Given the description of an element on the screen output the (x, y) to click on. 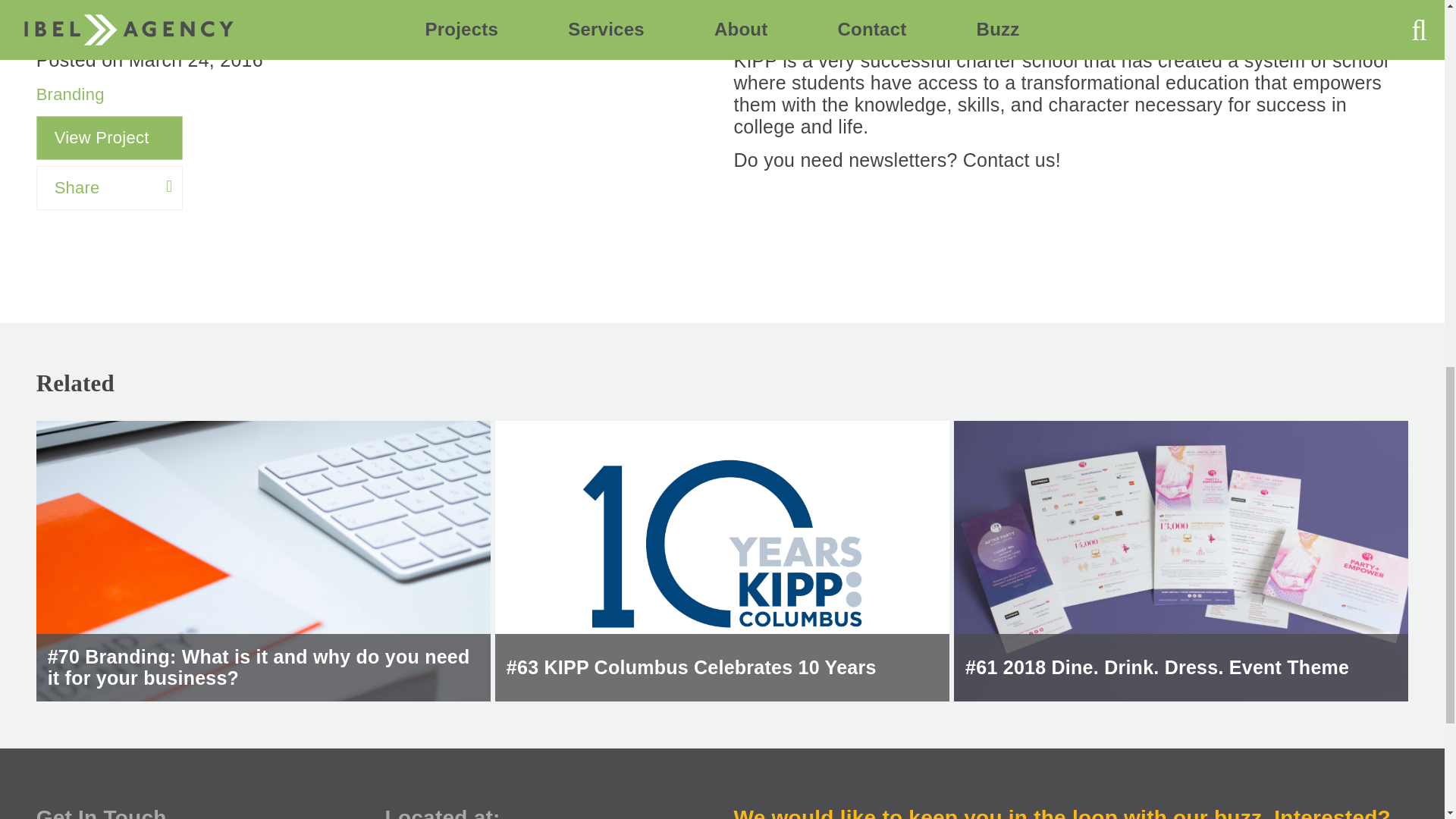
View Project (109, 137)
Contact (777, 249)
Branding (70, 94)
View the project (871, 205)
